Given the description of an element on the screen output the (x, y) to click on. 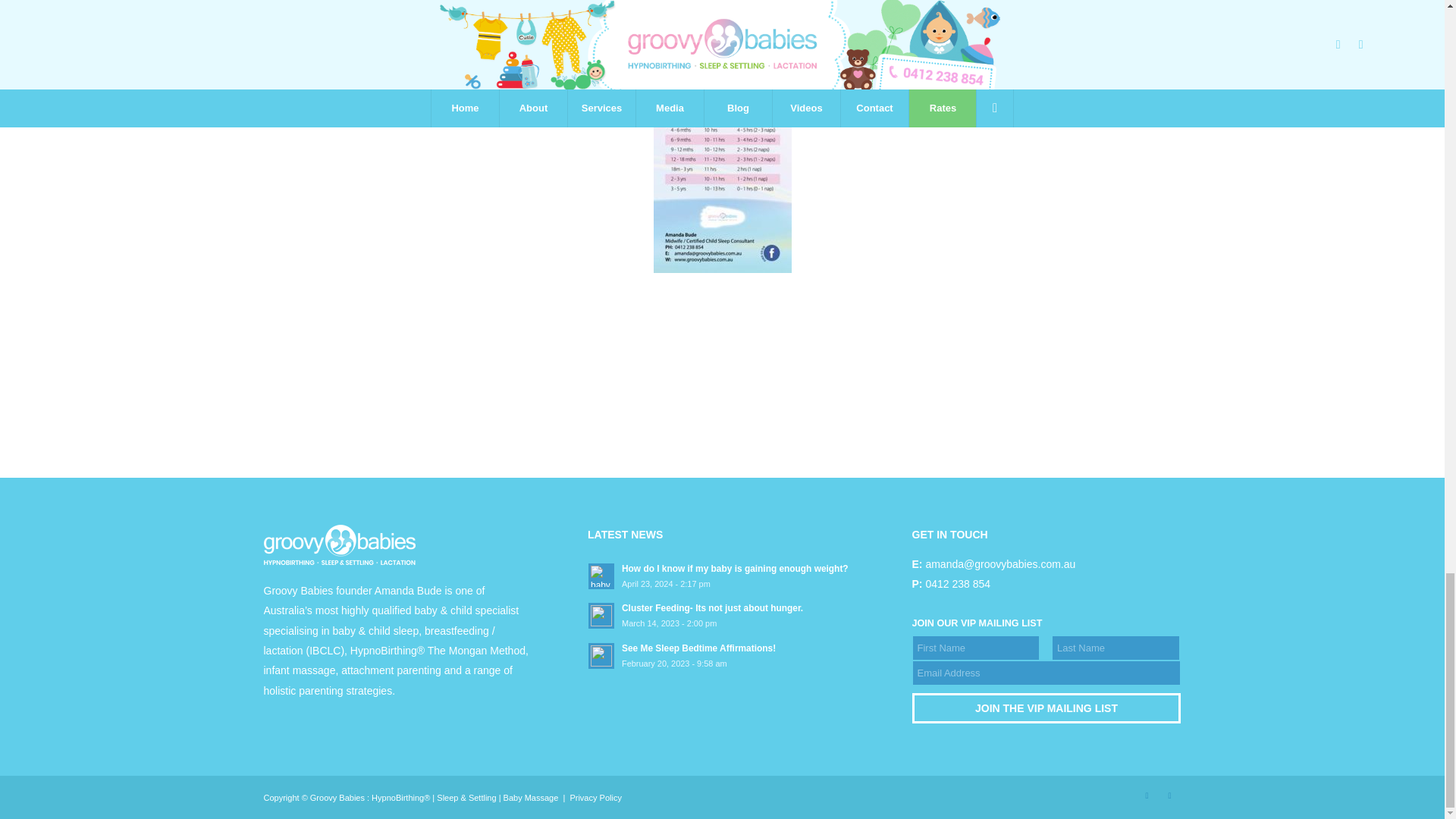
Privacy Policy (595, 797)
How do I know if my baby is gaining enough weight? (722, 575)
Instagram (1169, 794)
See Me Sleep Bedtime Affirmations! (722, 654)
Cluster Feeding- Its not just about hunger. (722, 614)
JOIN THE VIP MAILING LIST (1046, 707)
Baby Massage (531, 797)
Facebook (1146, 794)
JOIN THE VIP MAILING LIST (1046, 707)
